Given the description of an element on the screen output the (x, y) to click on. 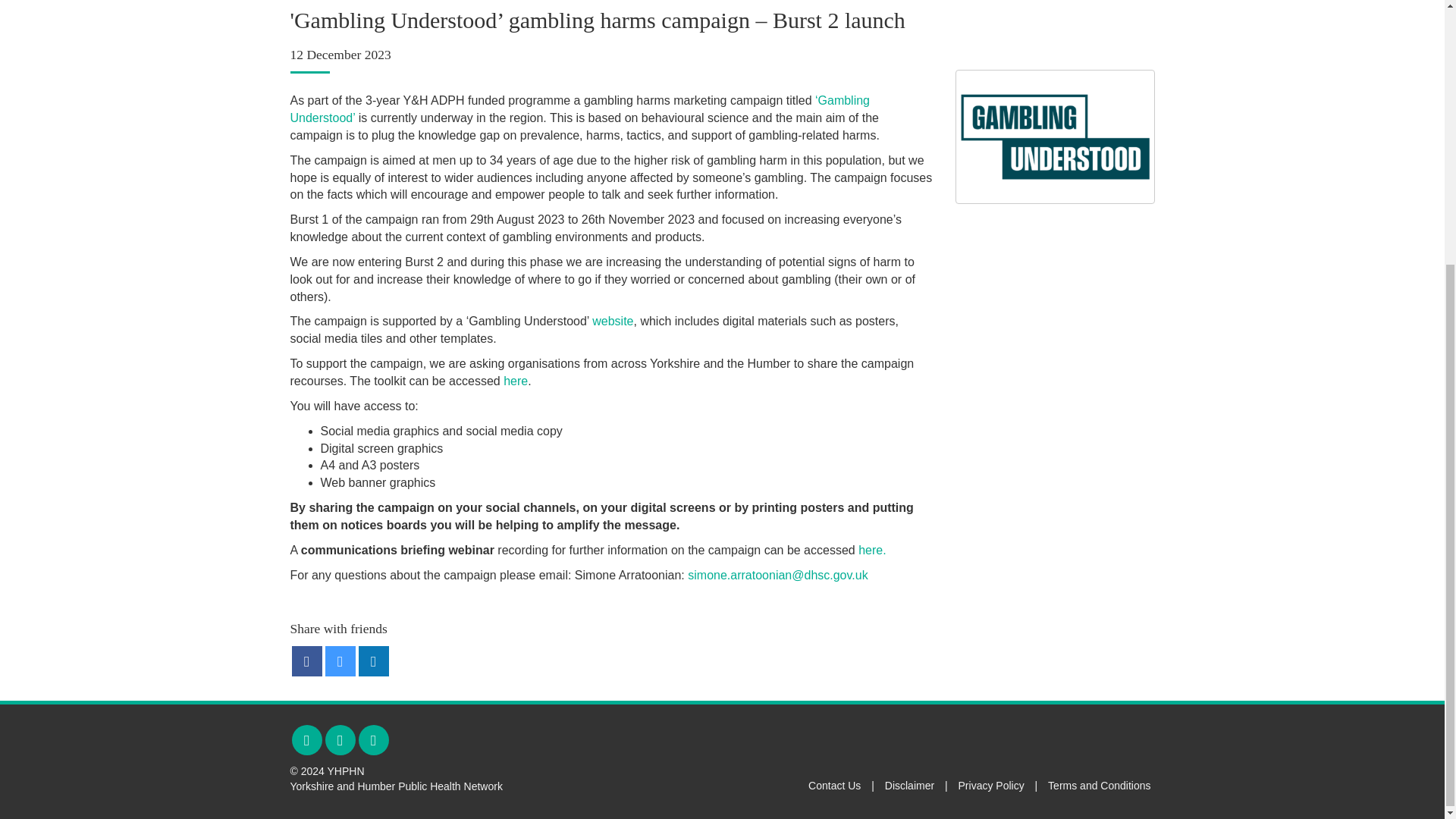
Instagram (339, 739)
here. (872, 549)
YouTube (373, 739)
website (612, 320)
Contact Us (834, 785)
Disclaimer (909, 785)
Privacy Policy (991, 785)
Share on Twitter (339, 661)
Terms and Conditions (1099, 785)
Share on LinkedIn (373, 661)
here (515, 380)
Twitter (306, 739)
Share on Facebook (306, 661)
